Given the description of an element on the screen output the (x, y) to click on. 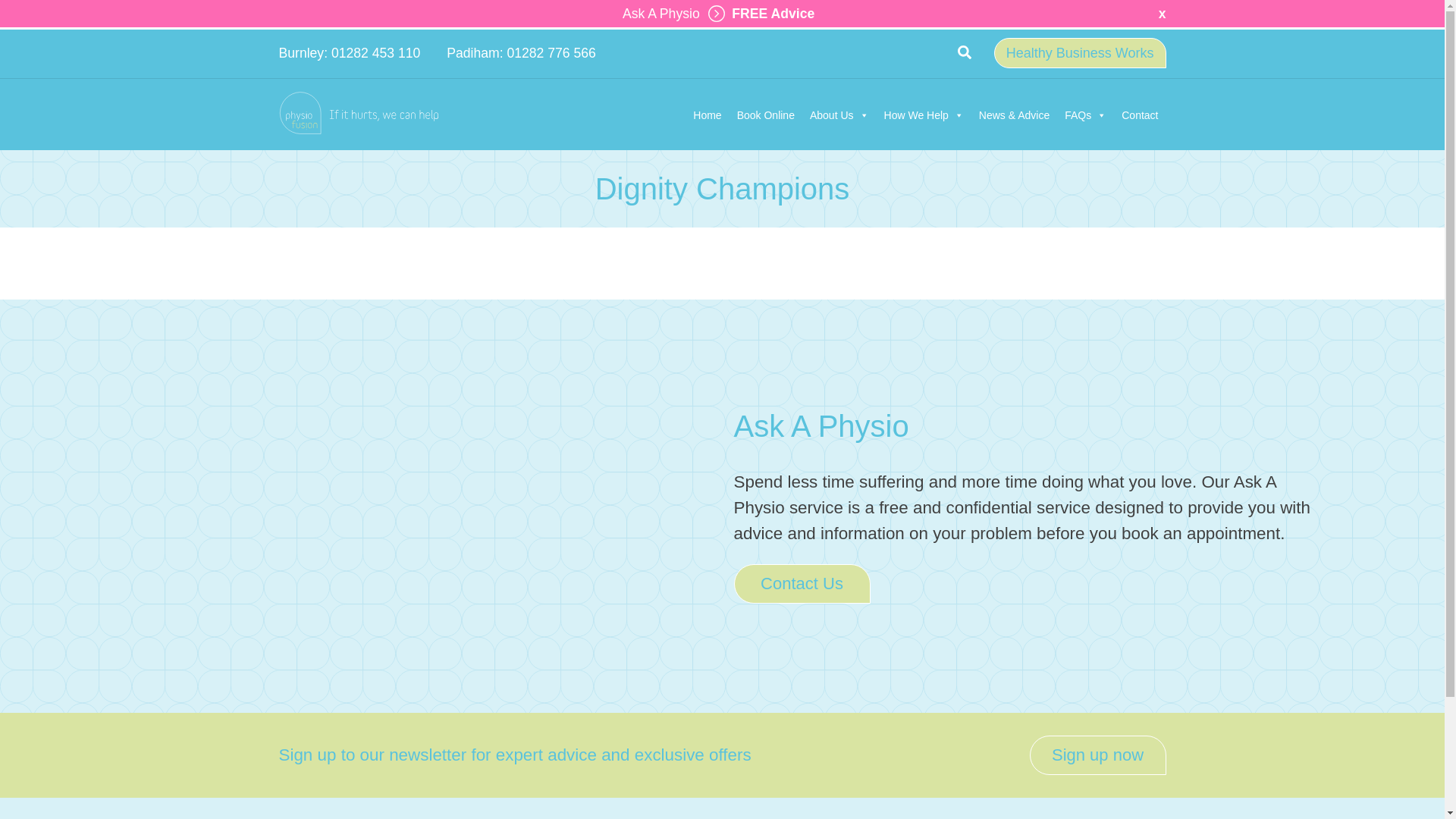
Home (707, 114)
About Us (839, 114)
Healthy Business Works (1080, 52)
Contact (1139, 114)
Padiham: 01282 776 566 (520, 52)
FAQs (1085, 114)
How We Help (923, 114)
Book Online (765, 114)
    FREE Advice (757, 13)
Burnley: 01282 453 110 (349, 52)
